Given the description of an element on the screen output the (x, y) to click on. 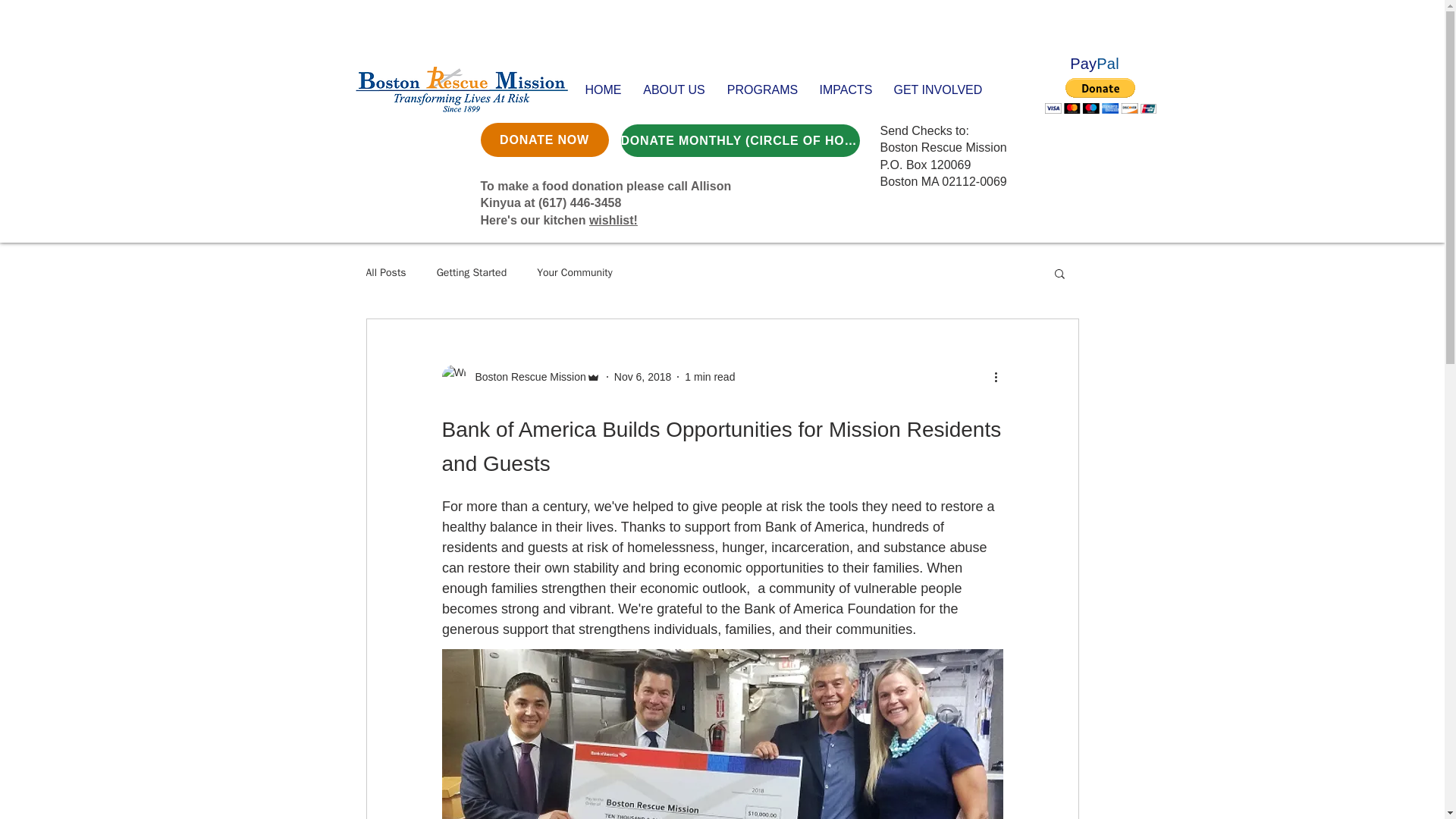
wishlist! (613, 219)
1 min read (709, 377)
Boston Rescue Mission (525, 376)
Getting Started (471, 273)
Nov 6, 2018 (642, 377)
Boston Rescue Mission (520, 376)
Your Community (574, 273)
All Posts (385, 273)
DONATE NOW (544, 139)
HOME (603, 89)
